Given the description of an element on the screen output the (x, y) to click on. 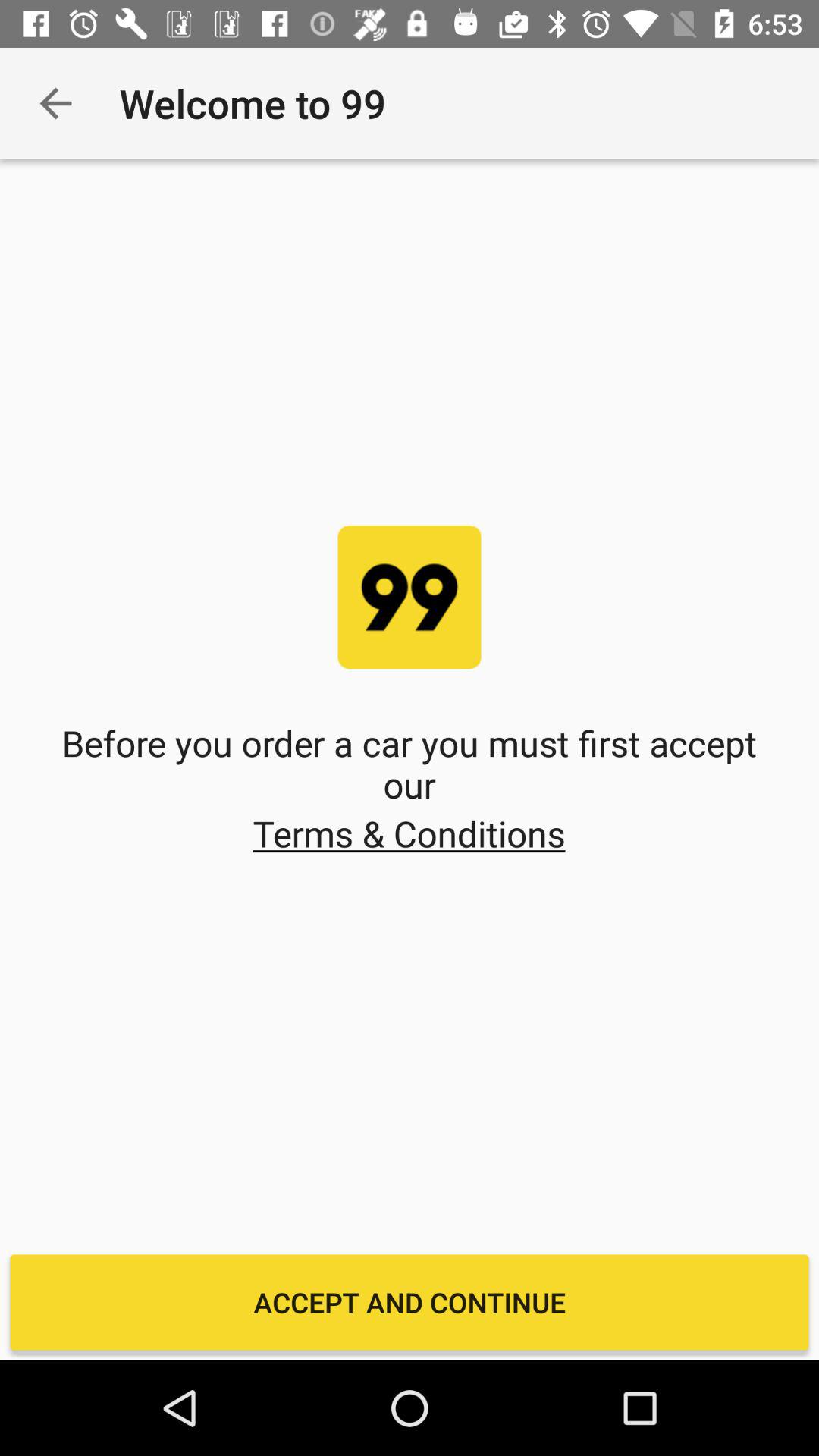
launch the accept and continue item (409, 1302)
